Given the description of an element on the screen output the (x, y) to click on. 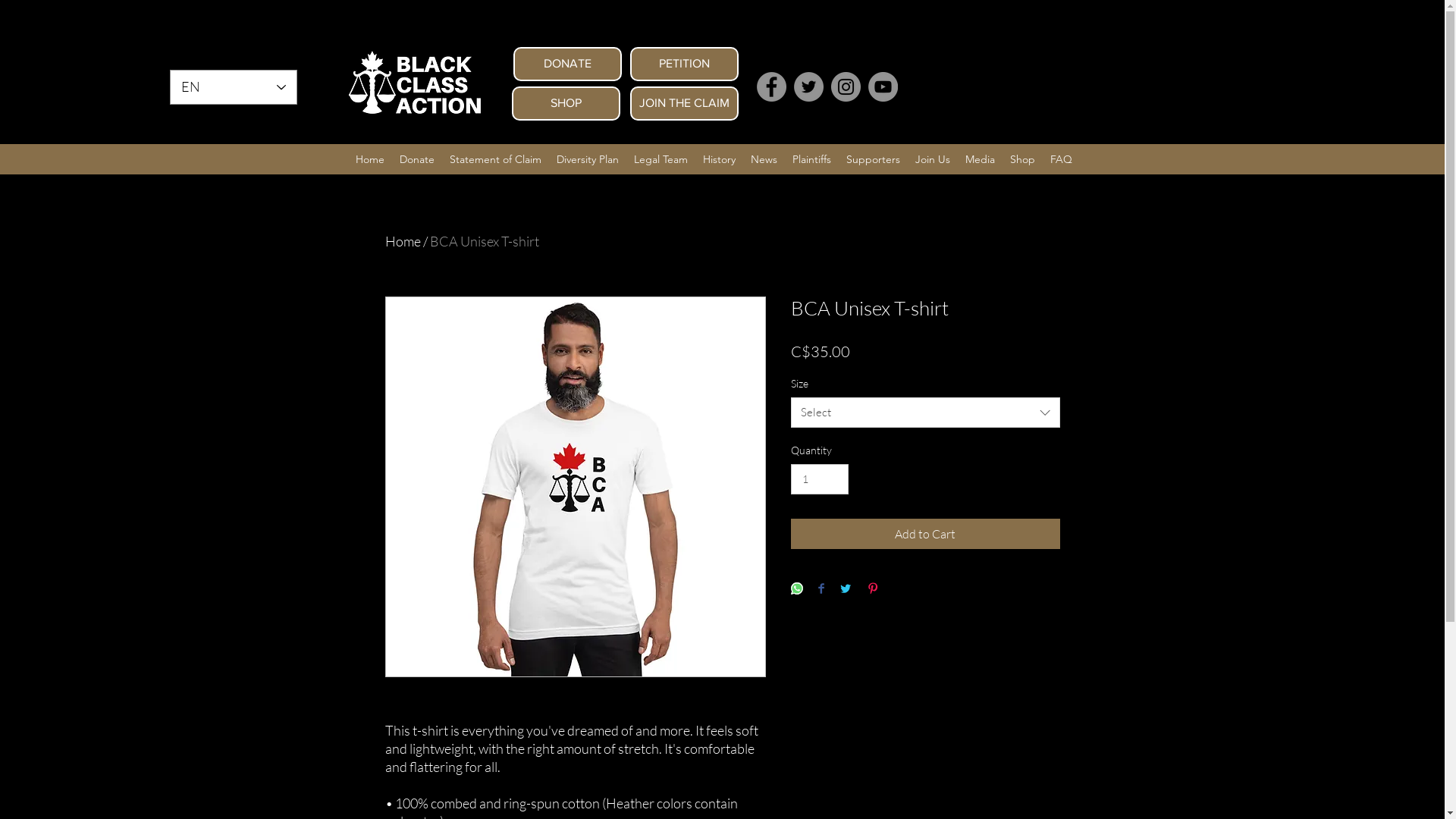
Select Element type: text (924, 412)
JOIN THE CLAIM Element type: text (684, 103)
DONATE Element type: text (567, 64)
FAQ Element type: text (1060, 158)
Statement of Claim Element type: text (494, 158)
SHOP Element type: text (565, 103)
Join Us Element type: text (931, 158)
Home Element type: text (402, 240)
Diversity Plan Element type: text (587, 158)
History Element type: text (718, 158)
Supporters Element type: text (872, 158)
Media Element type: text (979, 158)
Home Element type: text (369, 158)
Plaintiffs Element type: text (810, 158)
News Element type: text (763, 158)
BCA Unisex T-shirt Element type: text (483, 240)
Donate Element type: text (416, 158)
Legal Team Element type: text (660, 158)
PETITION Element type: text (684, 64)
Shop Element type: text (1022, 158)
Add to Cart Element type: text (924, 533)
